Given the description of an element on the screen output the (x, y) to click on. 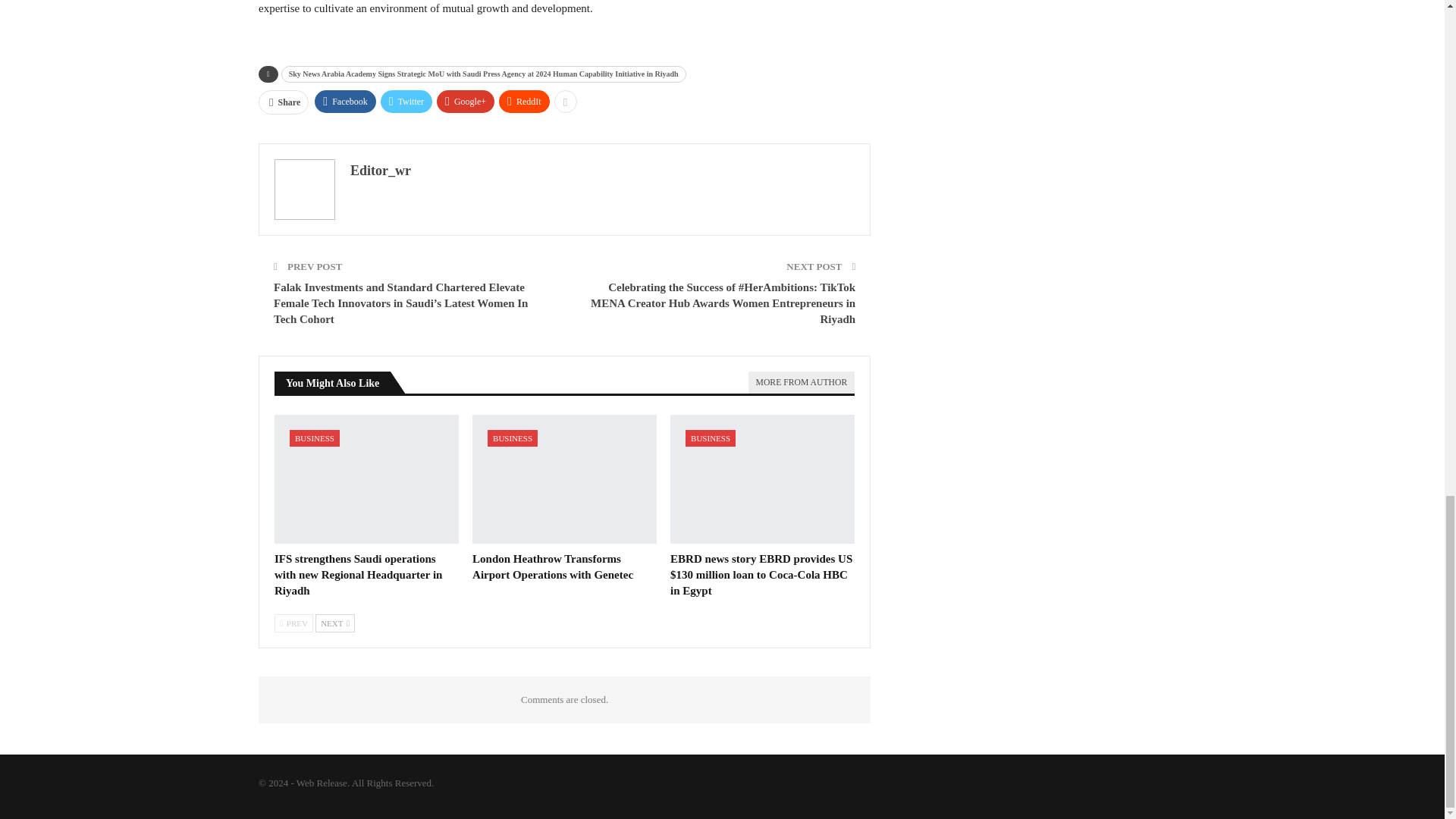
London Heathrow Transforms Airport Operations with Genetec (552, 566)
Previous (294, 623)
Next (335, 623)
London Heathrow Transforms Airport Operations with Genetec (563, 478)
Facebook (344, 101)
